Given the description of an element on the screen output the (x, y) to click on. 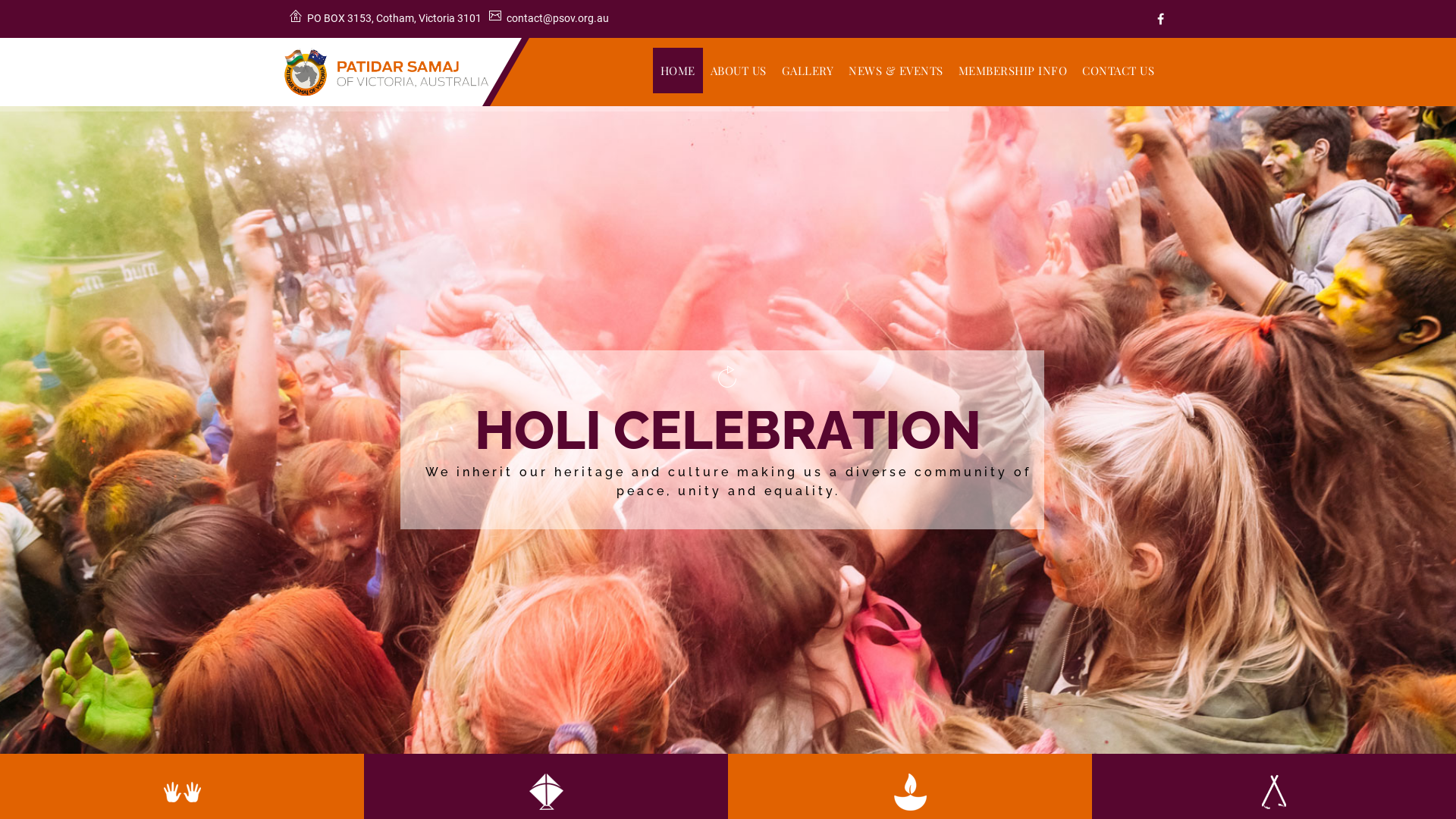
MEMBERSHIP INFO Element type: text (1012, 70)
Patidar Samaj of Victoria Element type: hover (386, 72)
HOME Element type: text (677, 70)
CONTACT US Element type: text (1117, 70)
NEWS & EVENTS Element type: text (895, 70)
Patidar Samaj of Victoria Element type: hover (386, 71)
ABOUT US Element type: text (737, 70)
Facebook Element type: hover (1160, 18)
GALLERY Element type: text (806, 70)
